Given the description of an element on the screen output the (x, y) to click on. 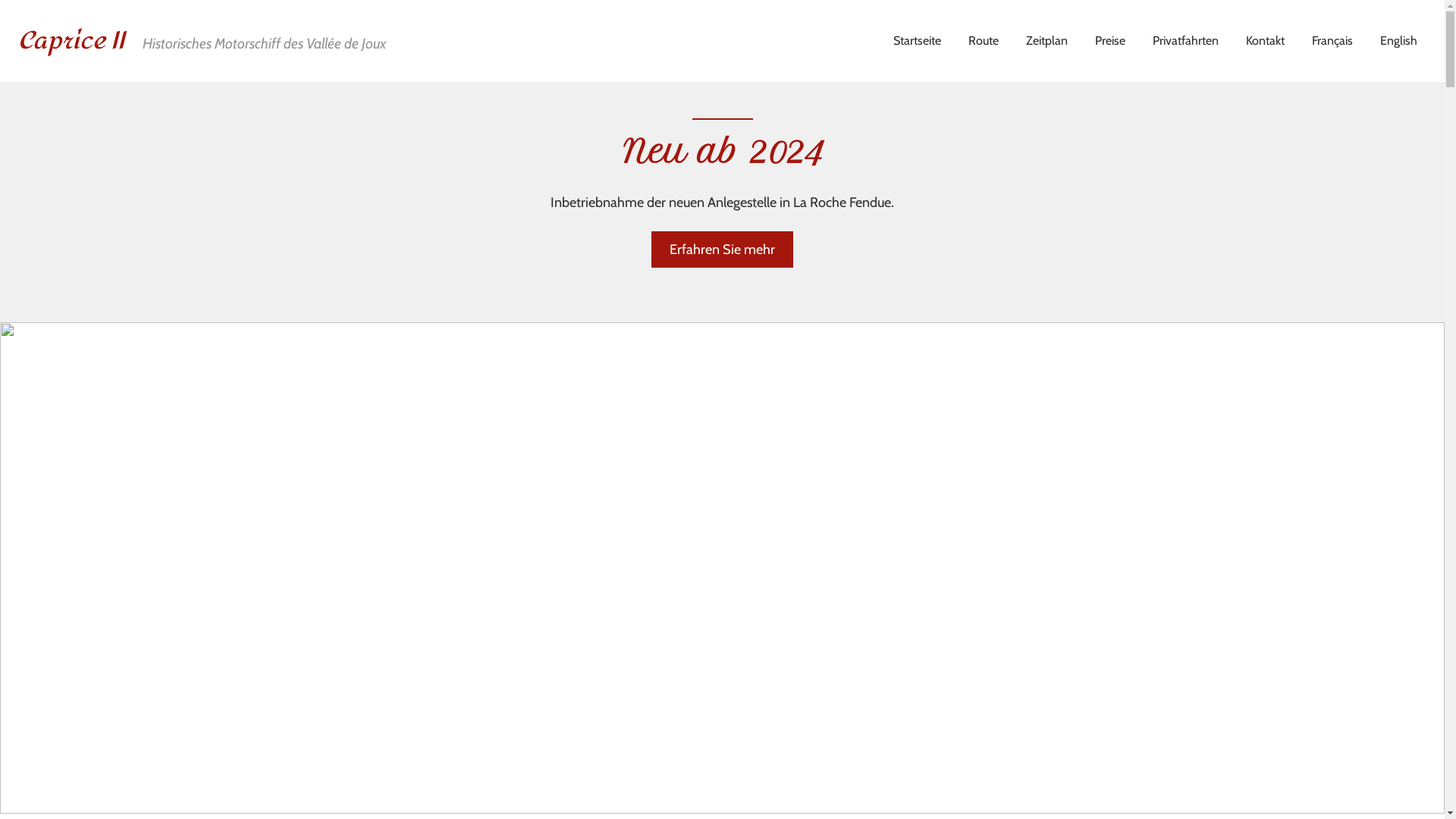
Route Element type: text (983, 40)
English Element type: text (1398, 40)
Kontakt Element type: text (1264, 40)
Preise Element type: text (1109, 40)
Erfahren Sie mehr Element type: text (722, 249)
Startseite Element type: text (917, 40)
Privatfahrten Element type: text (1185, 40)
Zeitplan Element type: text (1046, 40)
